Given the description of an element on the screen output the (x, y) to click on. 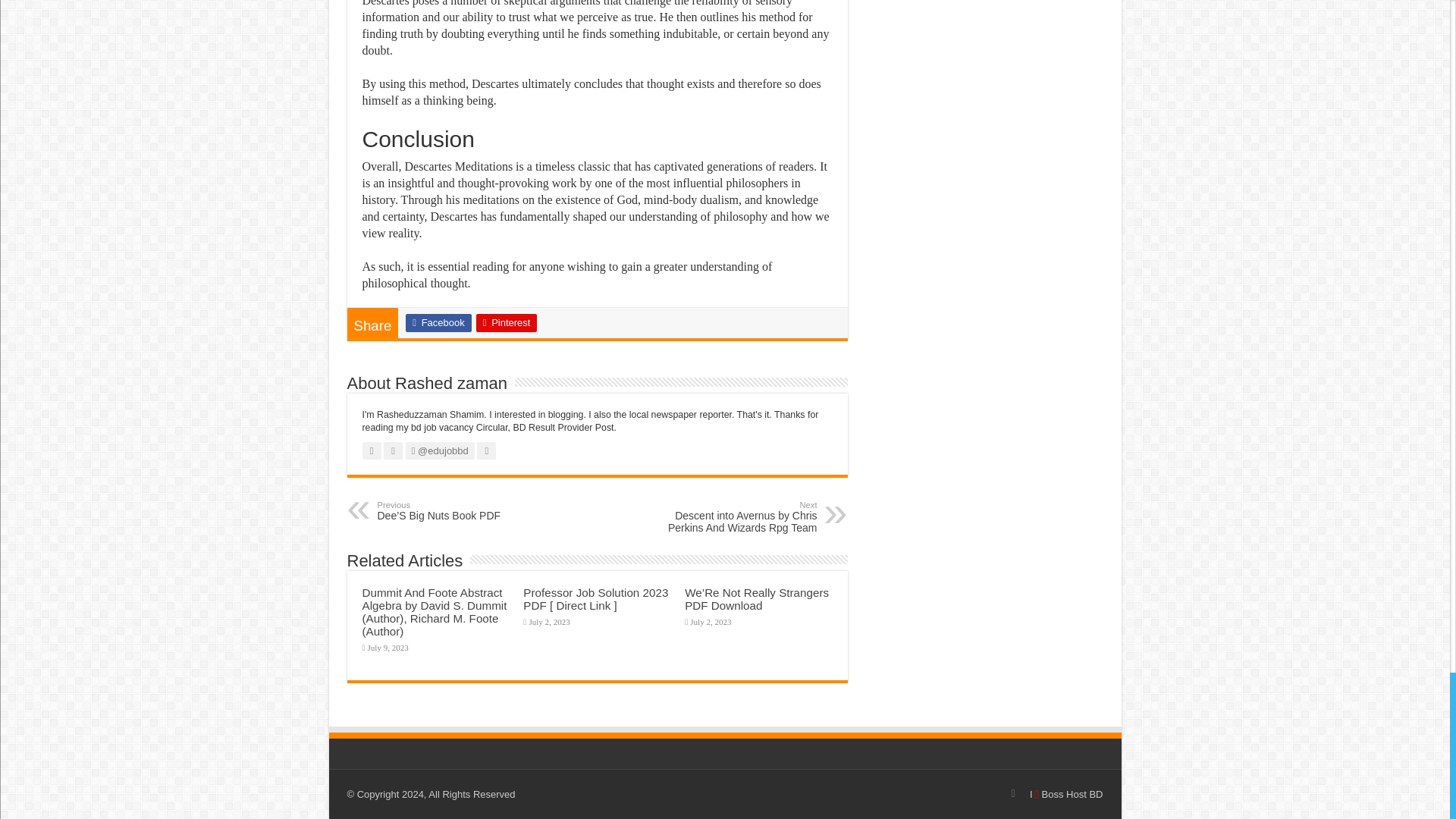
Pinterest (506, 322)
Facebook (438, 322)
